Given the description of an element on the screen output the (x, y) to click on. 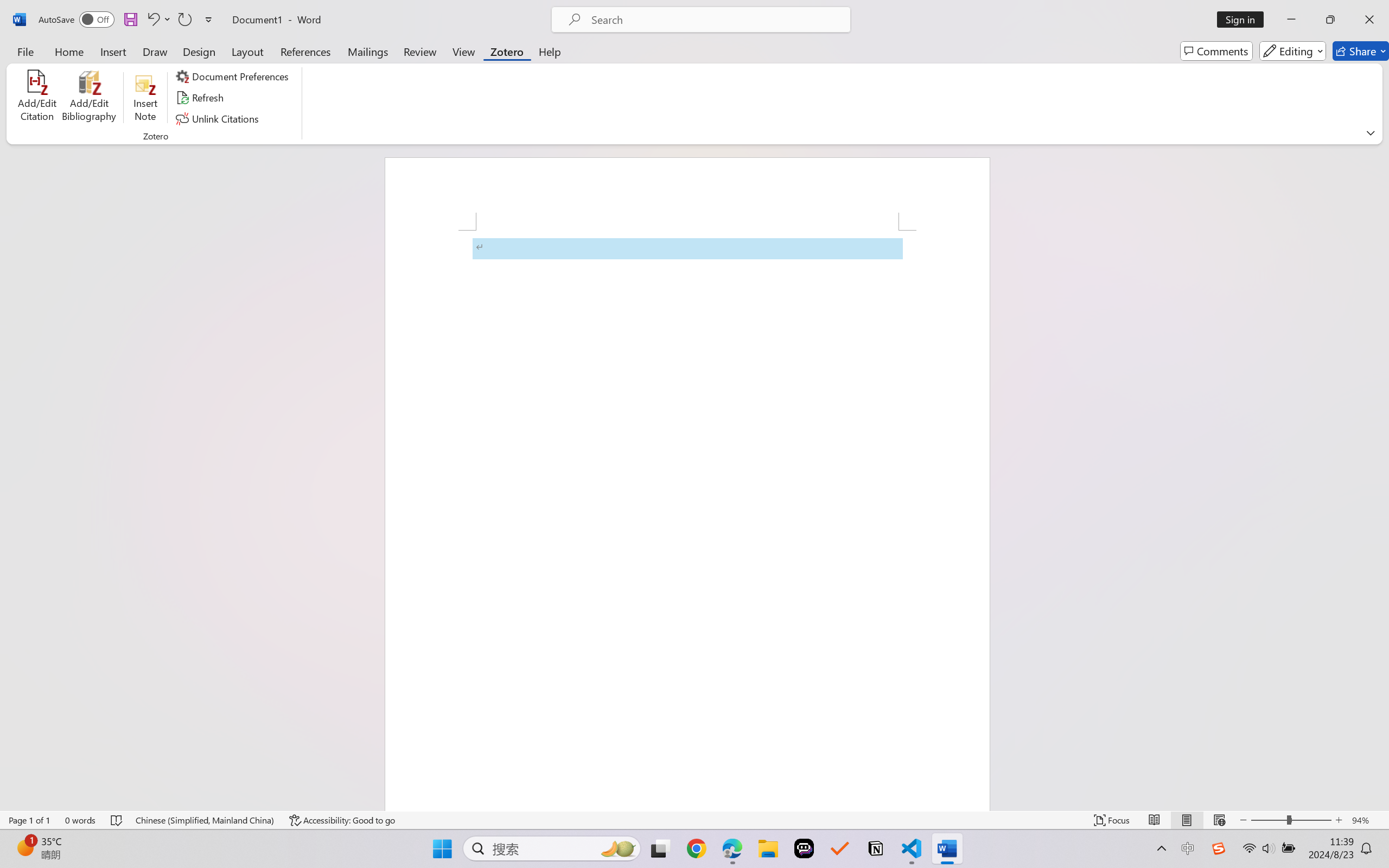
Sign in (1244, 19)
Language Chinese (Simplified, Mainland China) (205, 819)
Unlink Citations (218, 118)
Add/Edit Citation (37, 97)
Undo Apply Quick Style (158, 19)
